Given the description of an element on the screen output the (x, y) to click on. 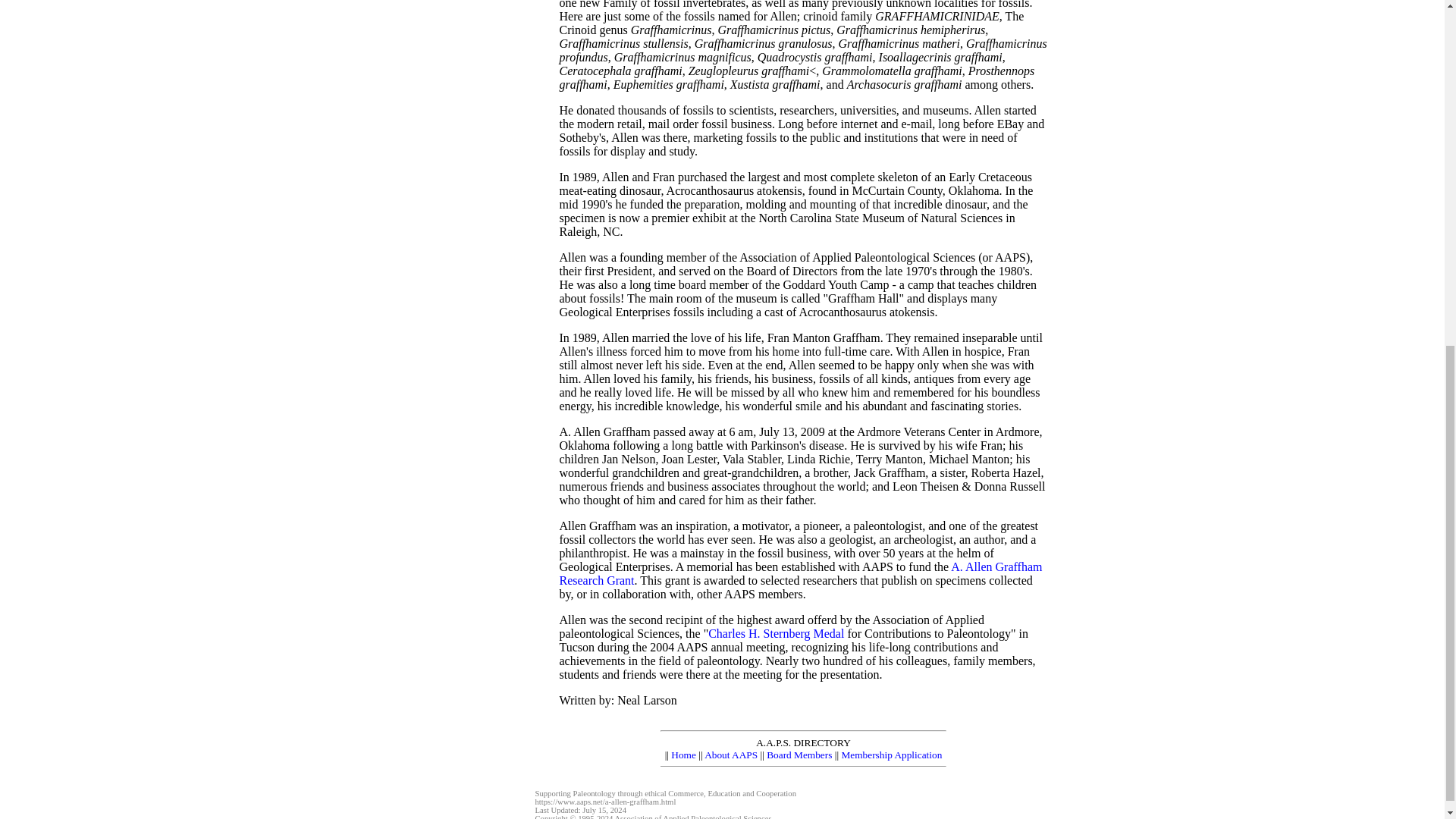
Membership Application (891, 754)
Board Members (799, 754)
Home (683, 754)
A. Allen Graffham Research Grant (800, 573)
Charles H. Sternberg Medal (775, 633)
About AAPS (730, 754)
